Given the description of an element on the screen output the (x, y) to click on. 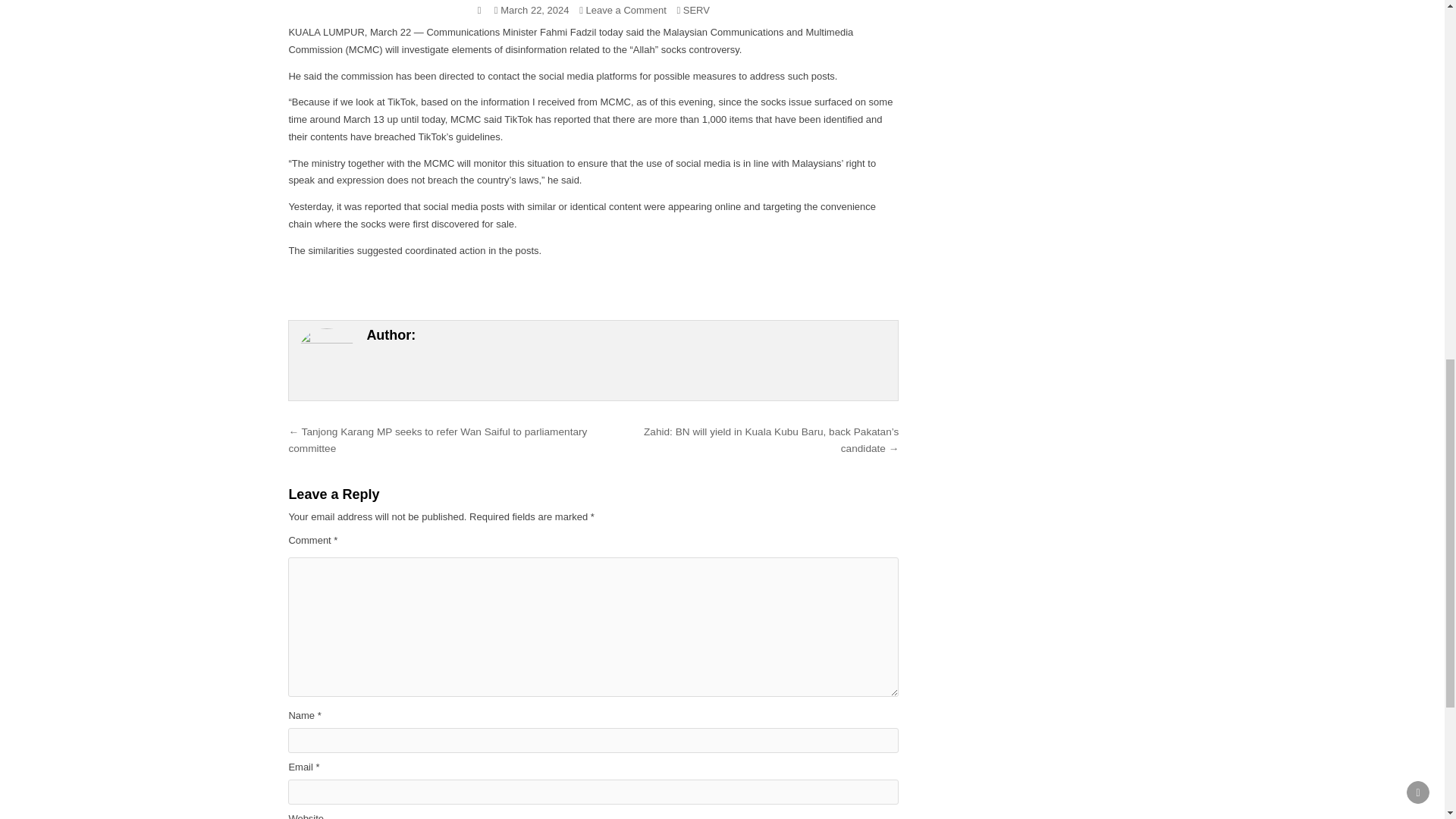
SERV (696, 9)
